Given the description of an element on the screen output the (x, y) to click on. 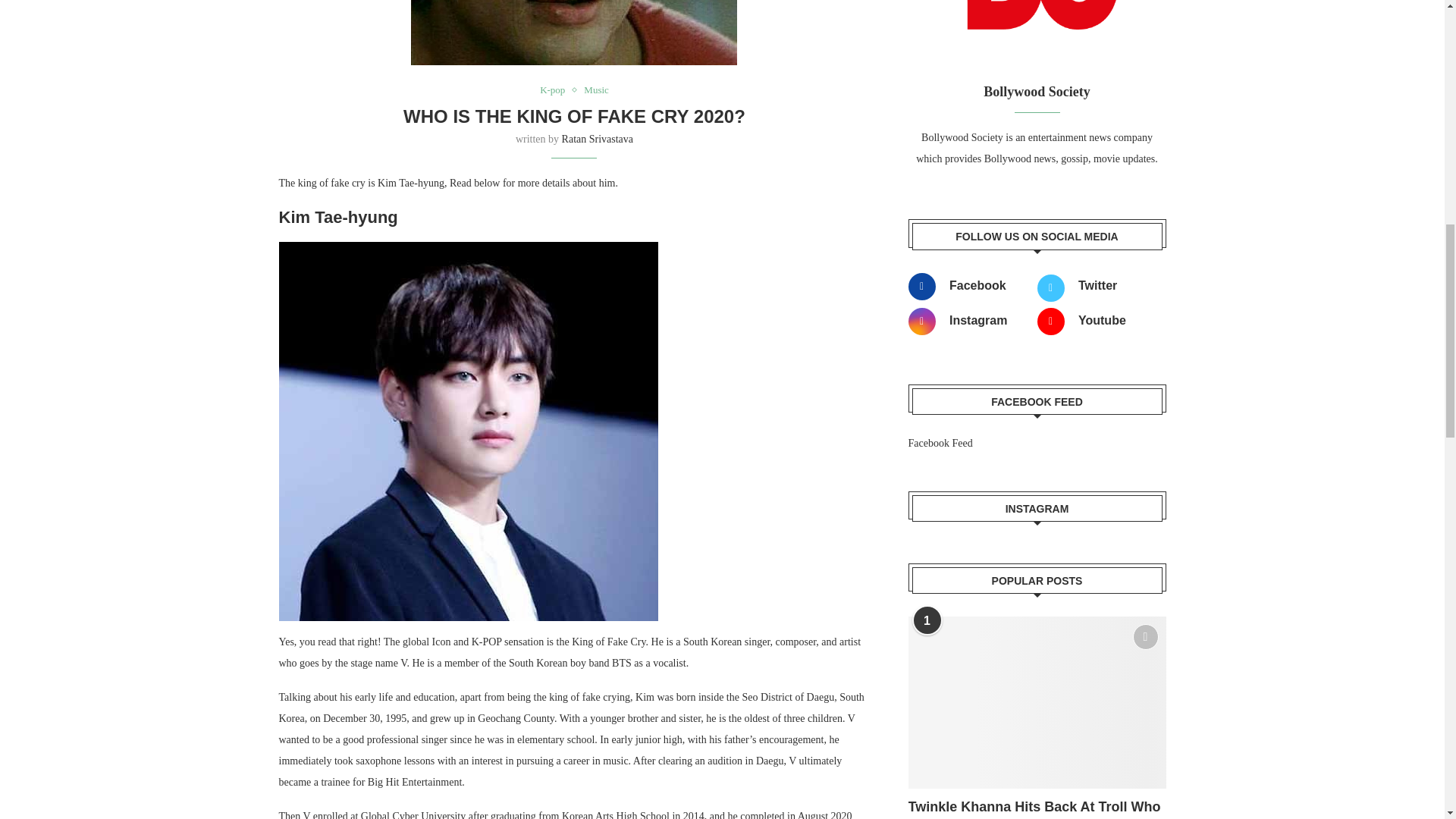
WHO IS THE KING OF FAKE CRY 2020? (574, 116)
Facebook (968, 286)
Music (595, 90)
Ratan Srivastava (597, 138)
K-pop (556, 90)
